Given the description of an element on the screen output the (x, y) to click on. 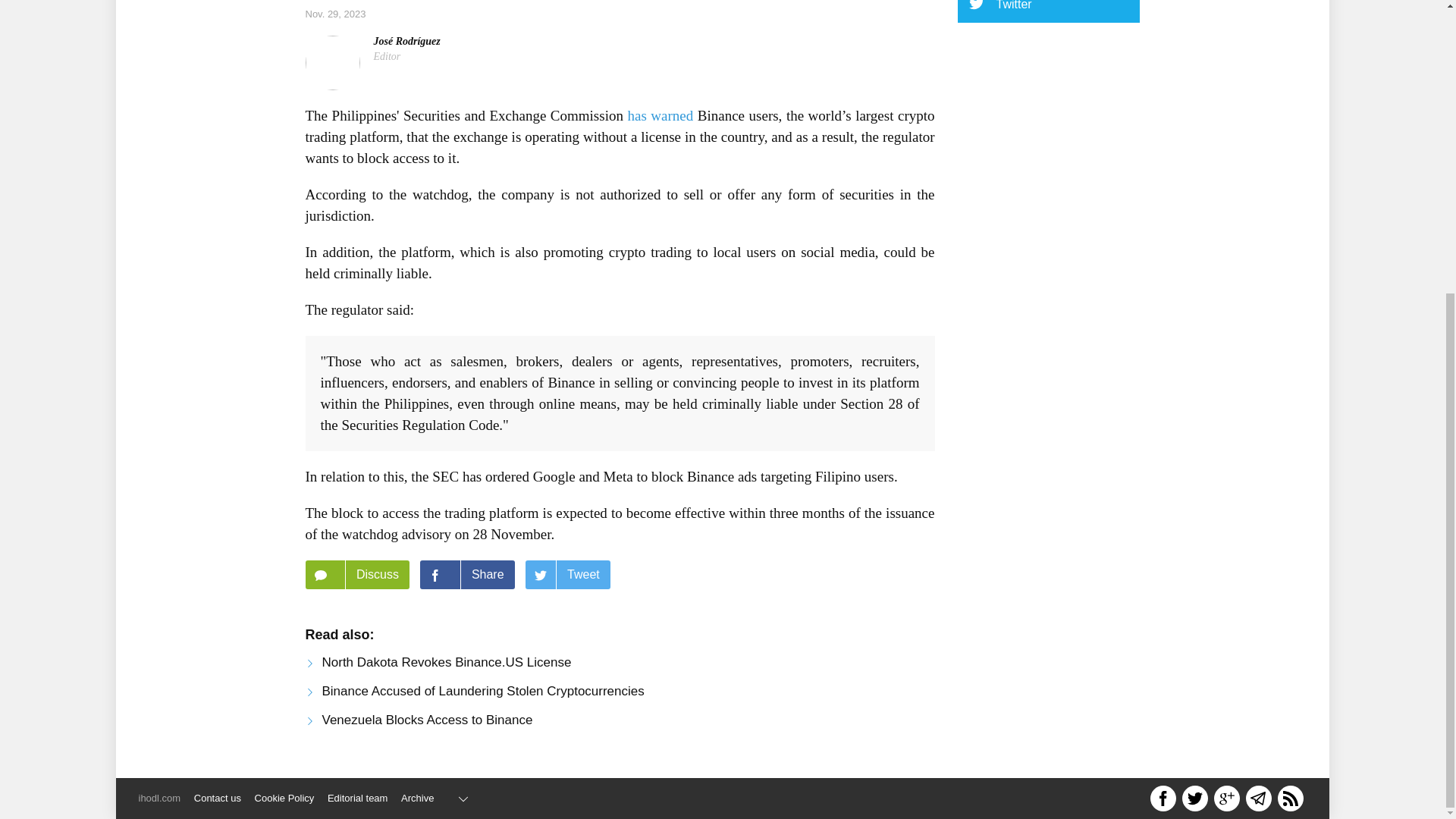
Discuss (356, 574)
has warned (660, 115)
Share (466, 574)
Tweet (567, 574)
Editor (386, 56)
